Given the description of an element on the screen output the (x, y) to click on. 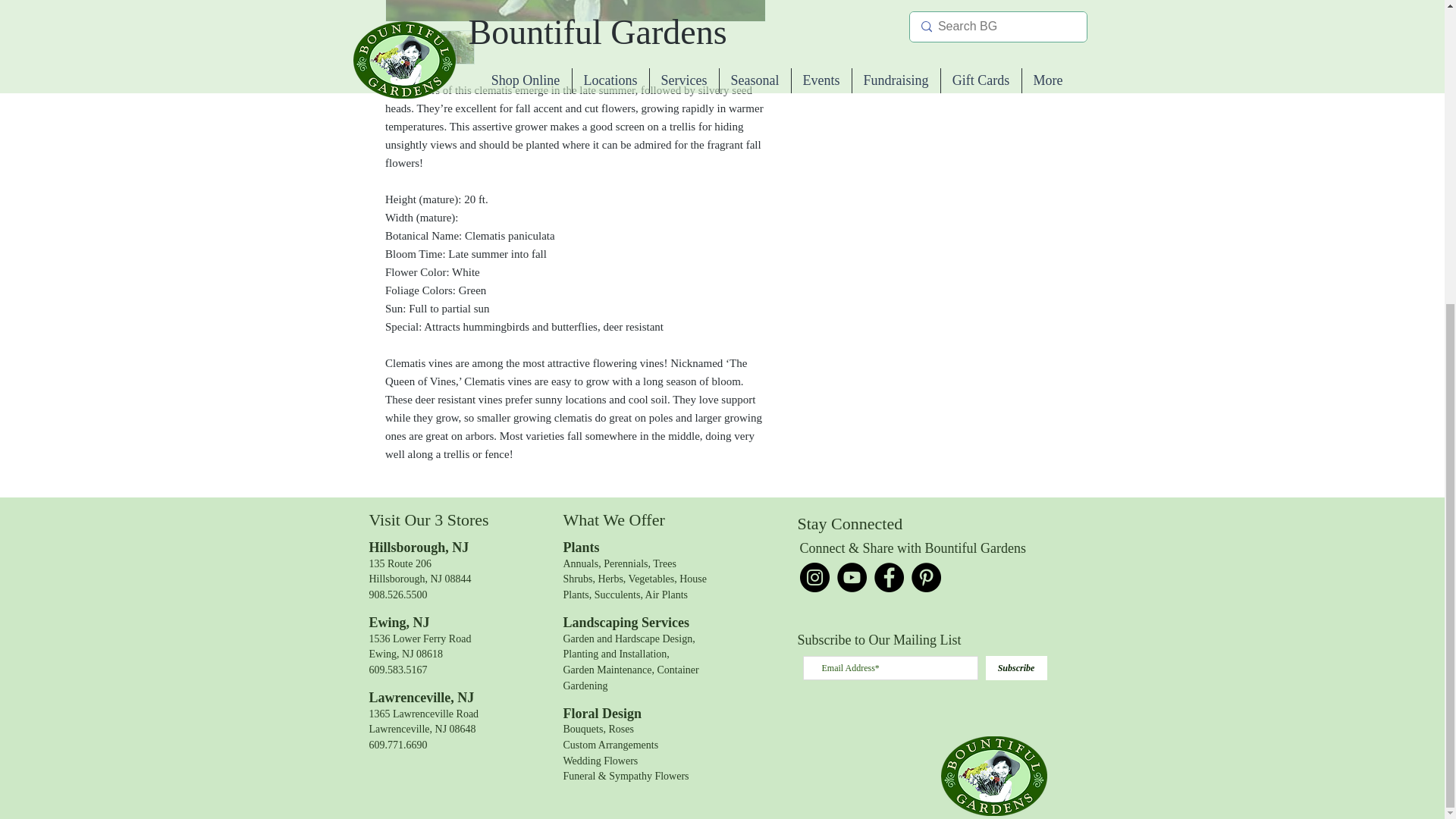
ugh, NJ (445, 547)
609.583.5167 (397, 669)
Hillsboro (395, 547)
Ewing, NJ (419, 646)
